Given the description of an element on the screen output the (x, y) to click on. 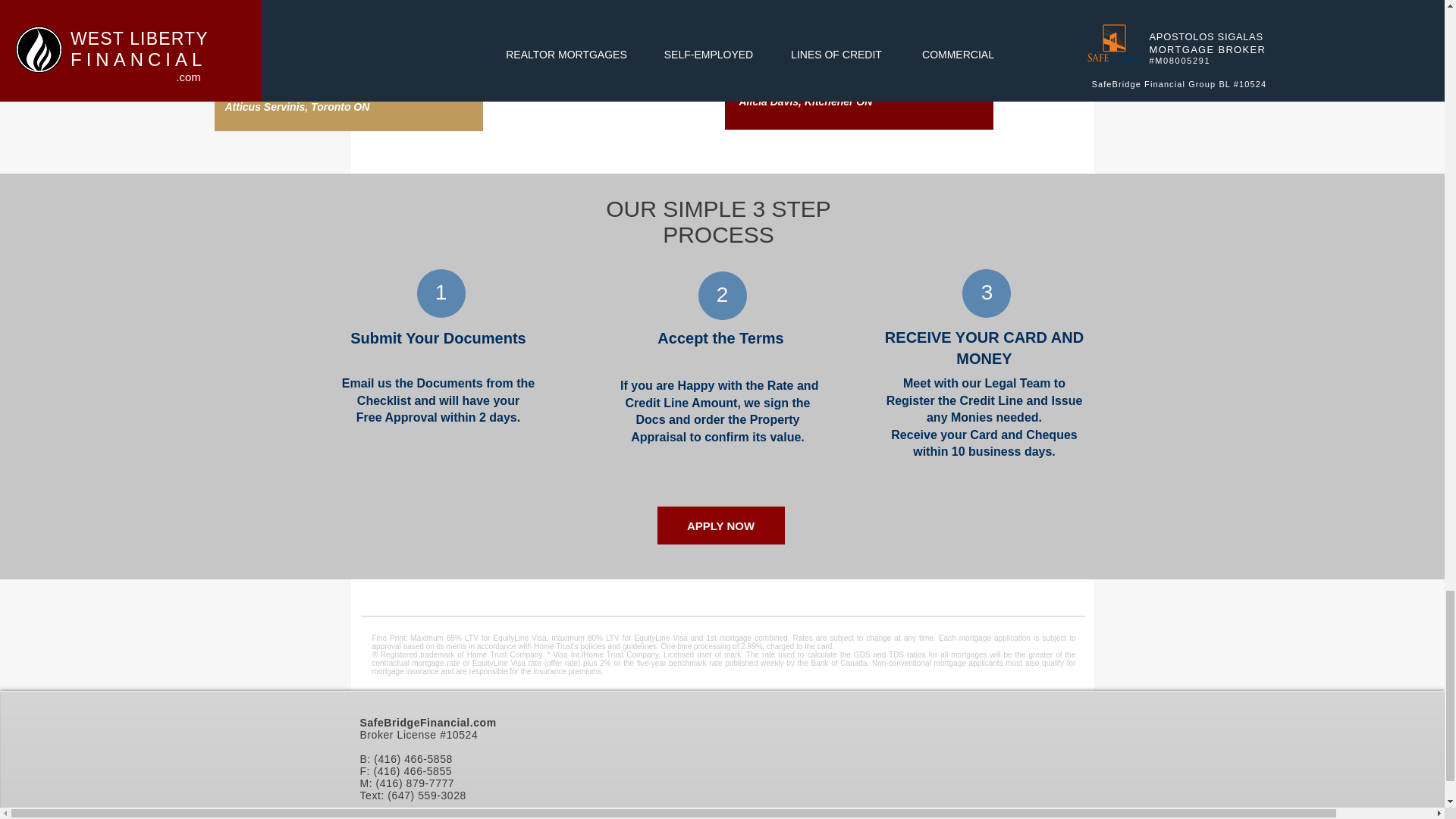
APPLY NOW (720, 525)
